Given the description of an element on the screen output the (x, y) to click on. 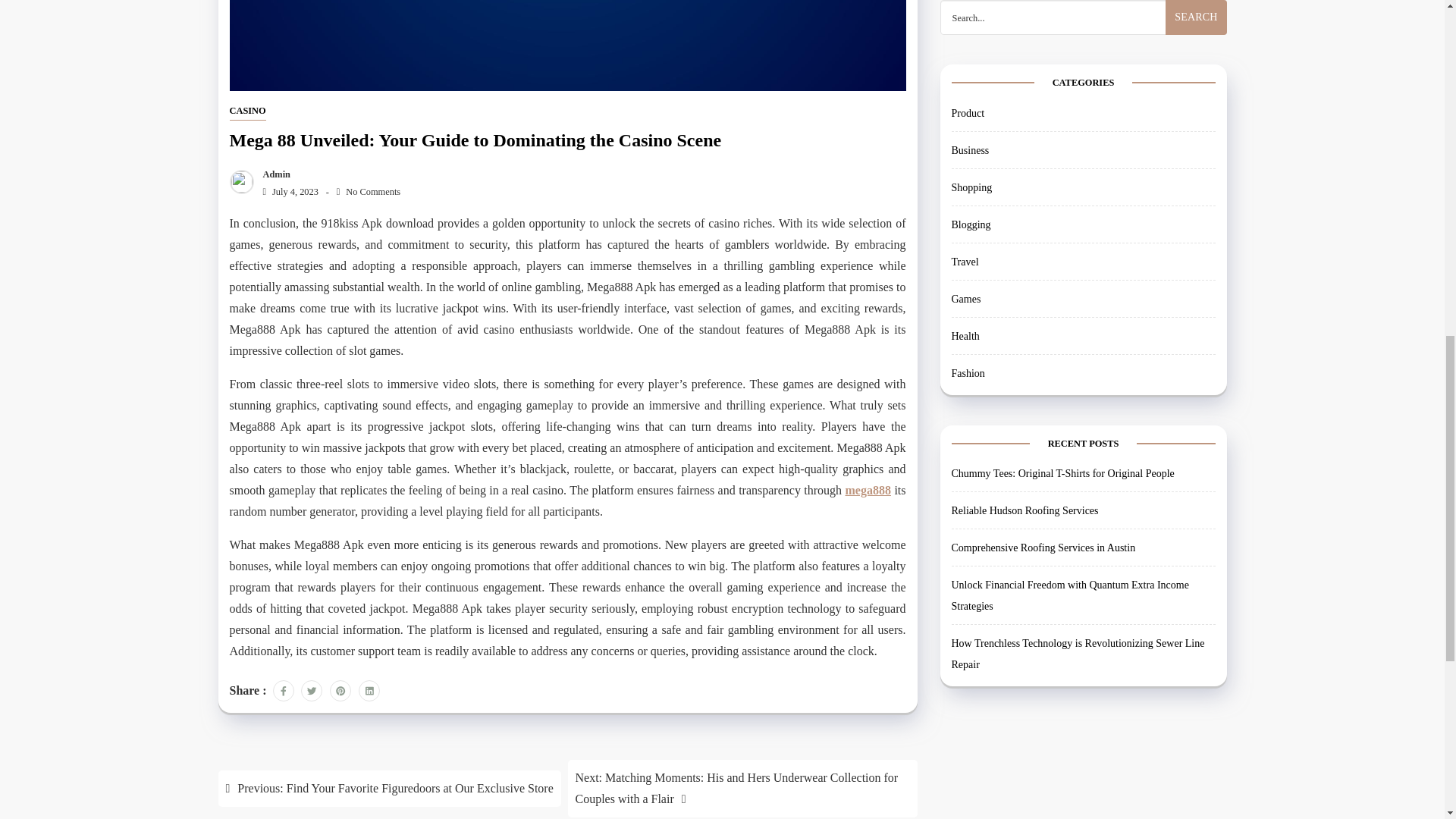
Admin (272, 173)
No Comments (368, 191)
July 4, 2023 (286, 191)
mega888 (868, 490)
CASINO (246, 111)
